Given the description of an element on the screen output the (x, y) to click on. 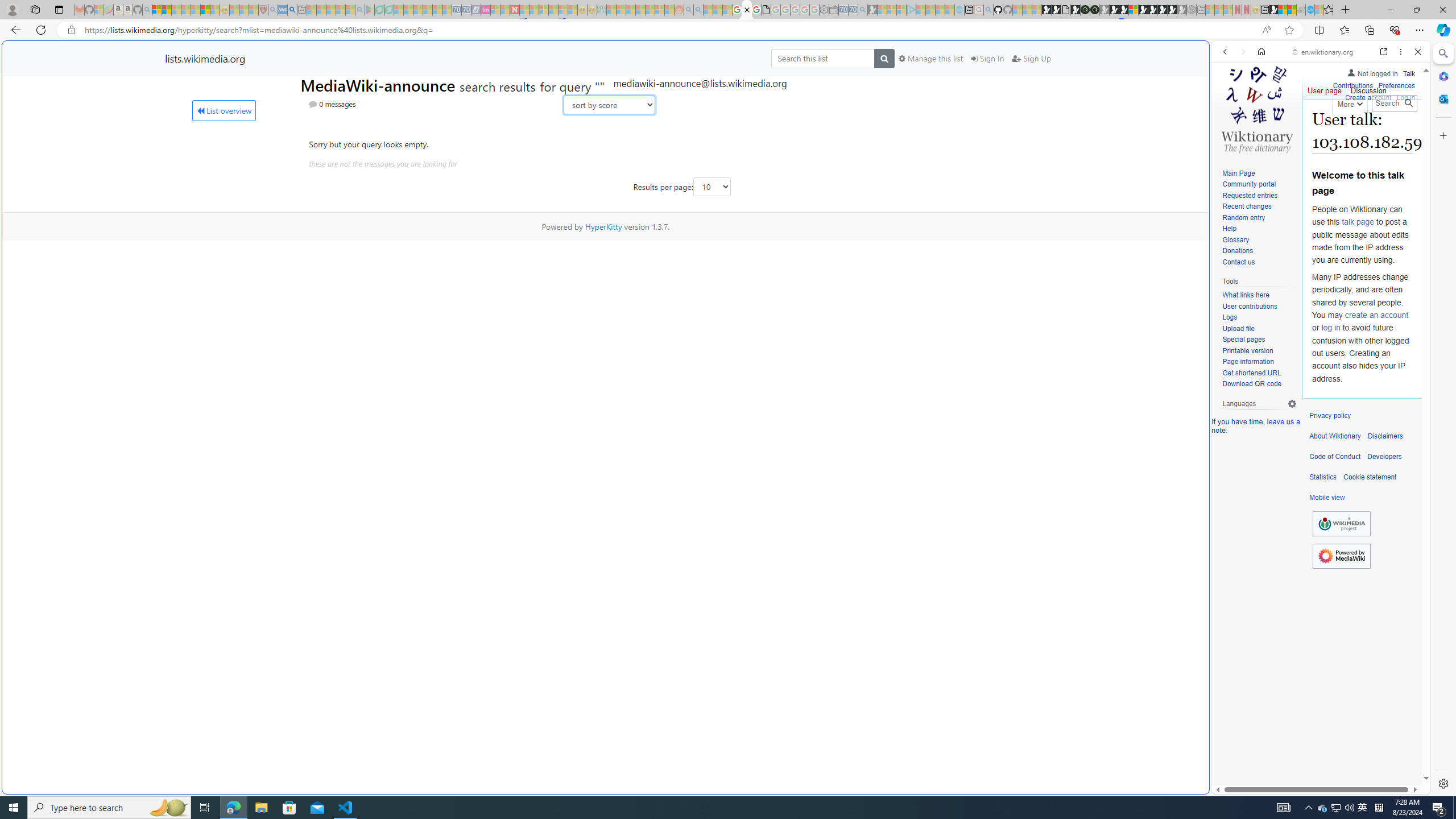
Wikimedia Foundation (1341, 524)
Discussion (1367, 87)
Donations (1237, 250)
Disclaimers (1385, 436)
Code of Conduct (1334, 456)
en.wiktionary.org (1323, 51)
Recent changes (1246, 206)
Cookie statement (1369, 477)
